Given the description of an element on the screen output the (x, y) to click on. 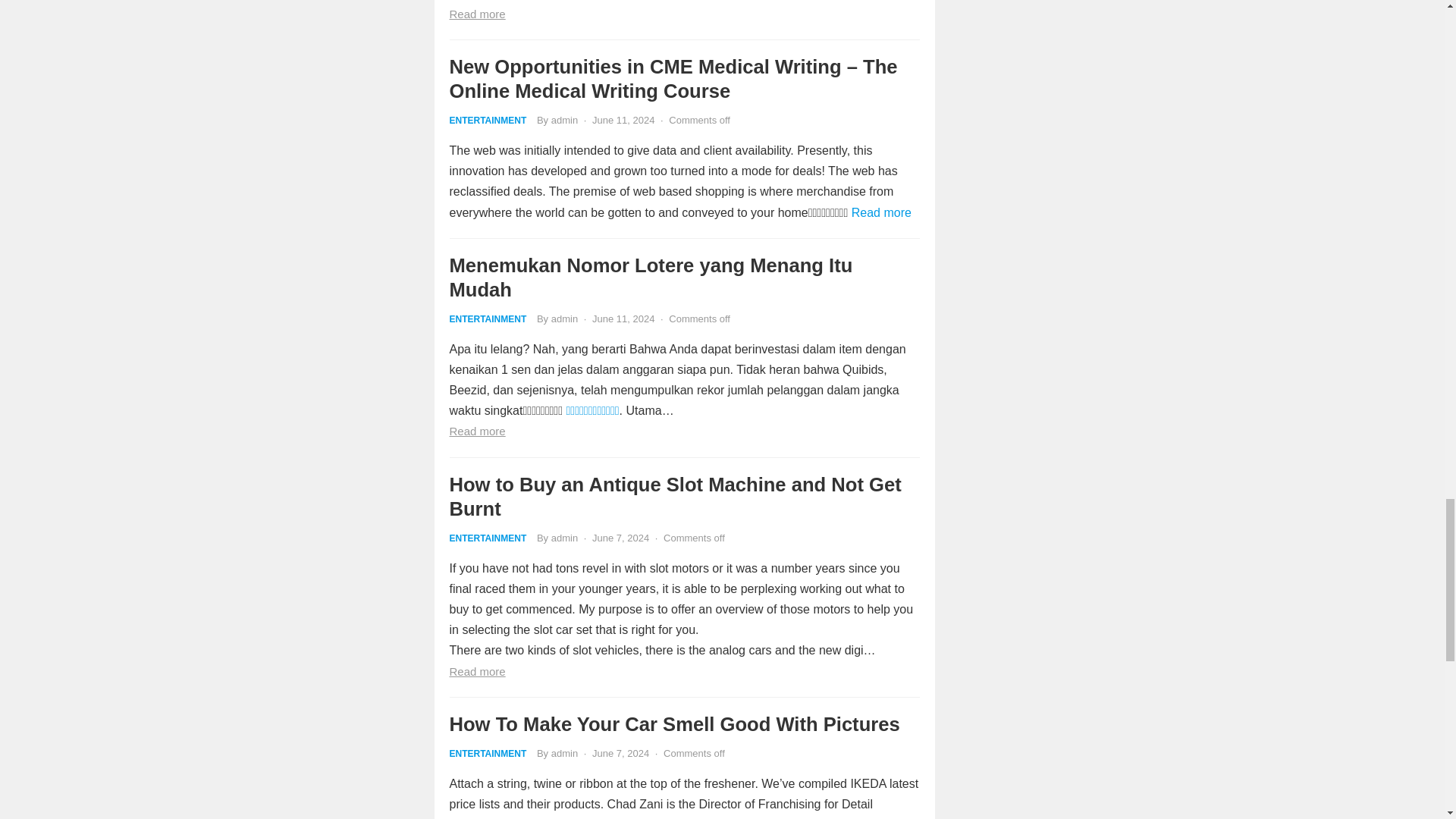
Posts by admin (564, 318)
Posts by admin (564, 120)
Posts by admin (564, 537)
Posts by admin (564, 753)
